Given the description of an element on the screen output the (x, y) to click on. 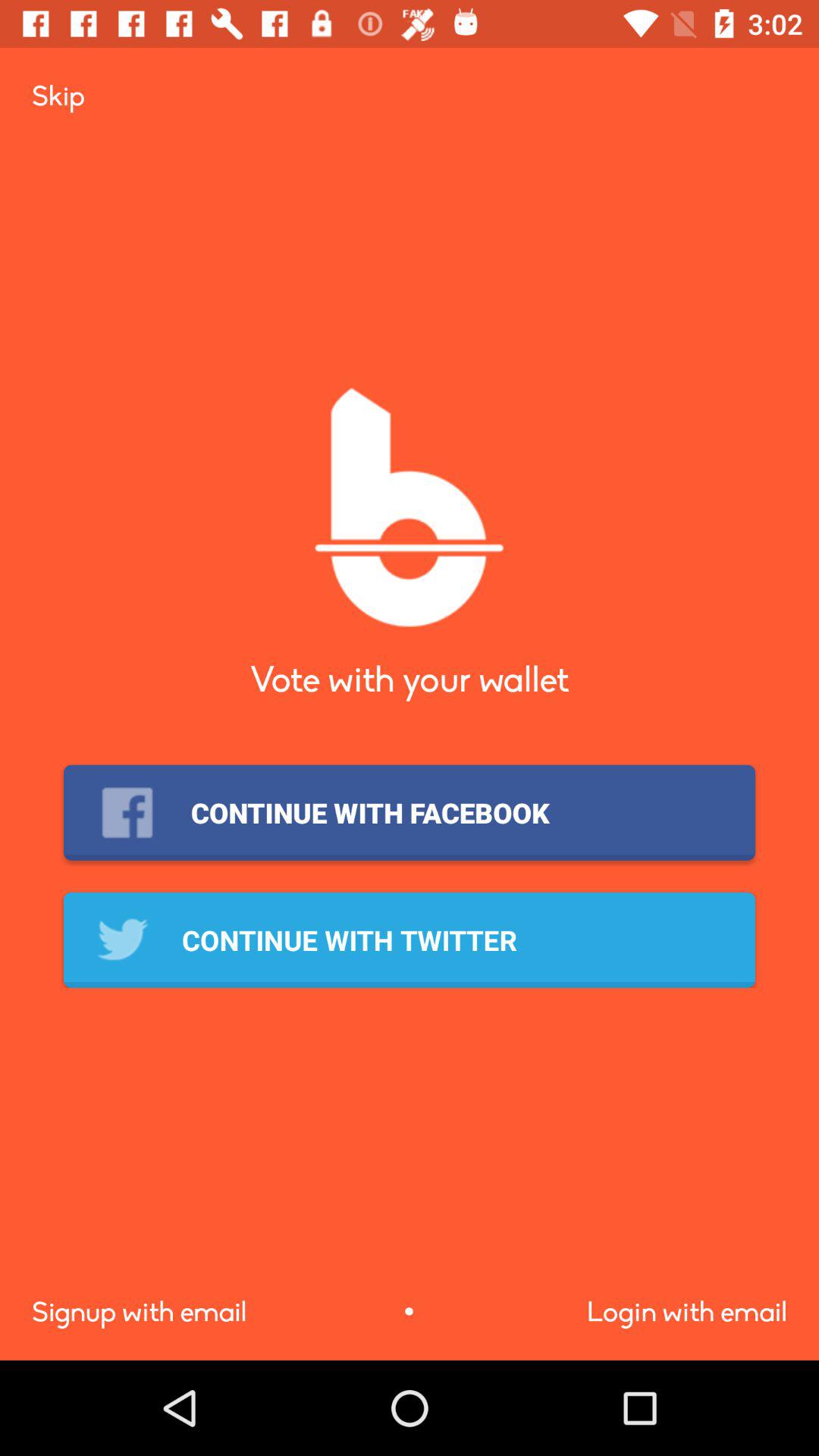
turn off icon above the vote with your icon (58, 95)
